Given the description of an element on the screen output the (x, y) to click on. 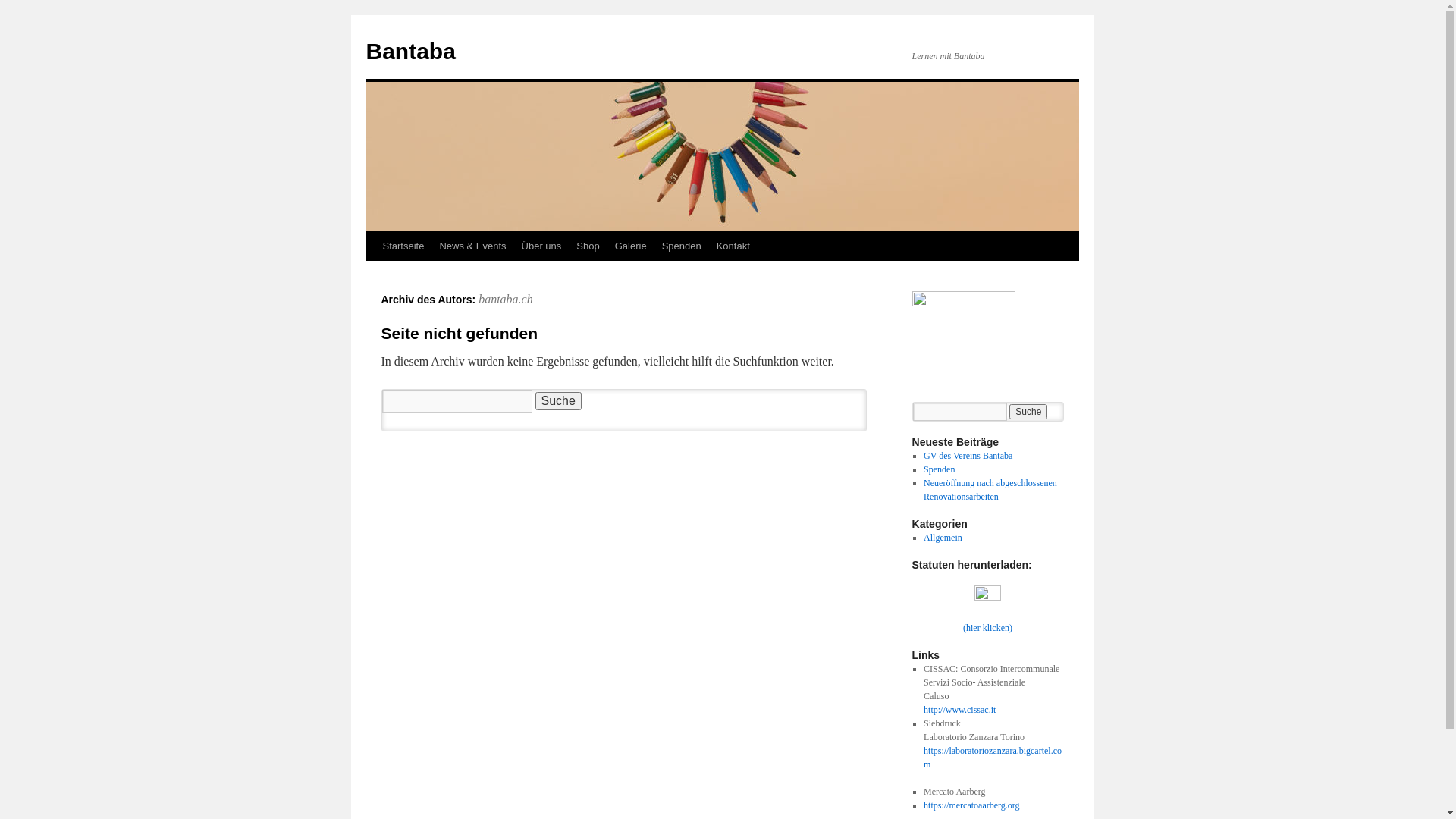
Shop Element type: text (587, 246)
https://mercatoaarberg.org Element type: text (971, 805)
Suche Element type: text (558, 401)
https://laboratoriozanzara.bigcartel.com Element type: text (992, 757)
Allgemein Element type: text (942, 537)
Spenden Element type: text (938, 469)
Bantaba Element type: text (410, 50)
News & Events Element type: text (472, 246)
Spenden Element type: text (681, 246)
Kontakt Element type: text (733, 246)
GV des Vereins Bantaba Element type: text (967, 455)
http://www.cissac.it Element type: text (959, 716)
(hier klicken) Element type: text (987, 627)
Springe zum Inhalt Element type: text (372, 274)
bantaba.ch Element type: text (505, 298)
Galerie Element type: text (630, 246)
Startseite Element type: text (402, 246)
Suche Element type: text (1028, 411)
